Given the description of an element on the screen output the (x, y) to click on. 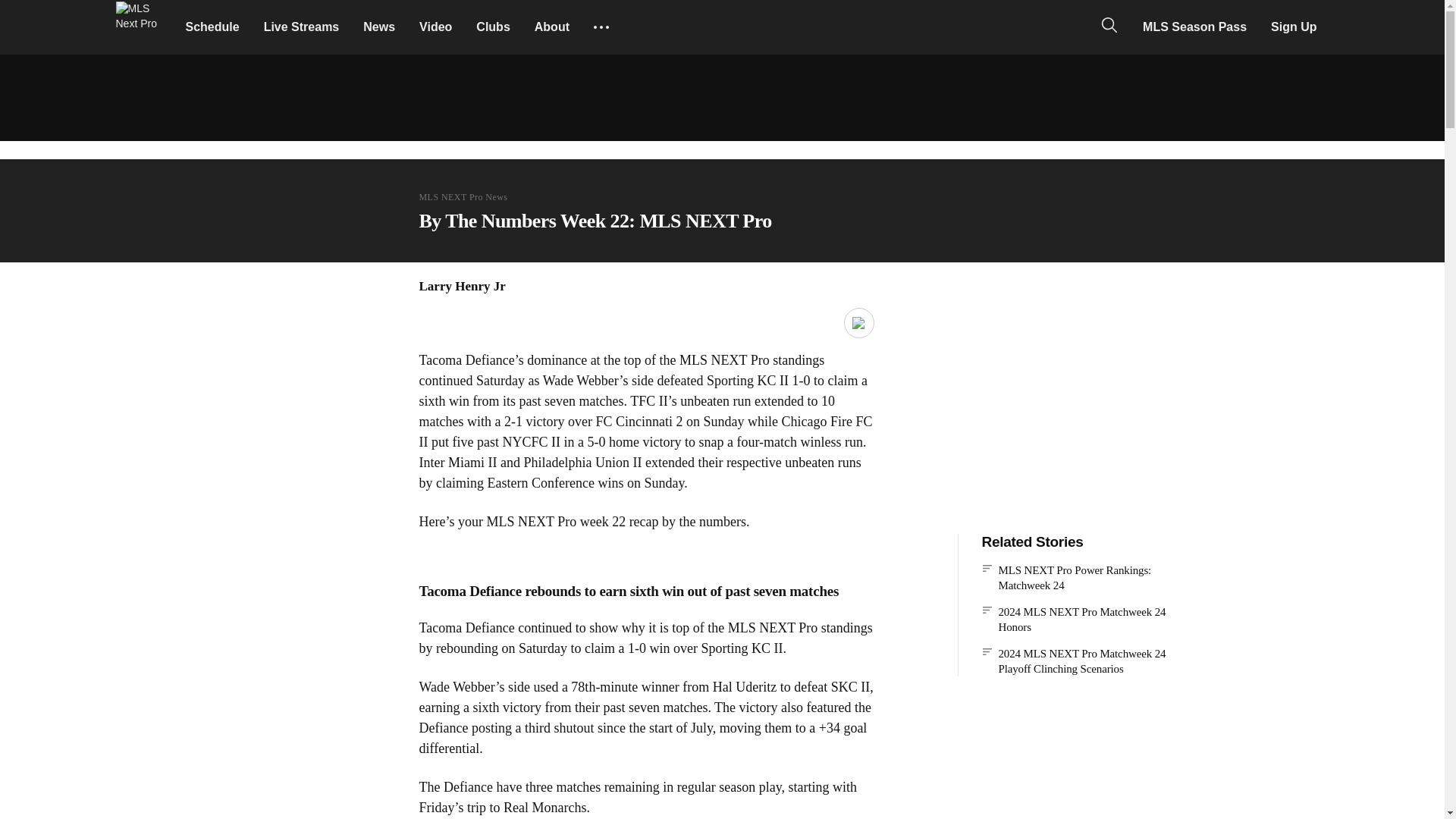
Live Streams (301, 26)
Sign Up (1293, 26)
Schedule (211, 26)
MLS Season Pass (1195, 26)
About (551, 26)
Clubs (492, 26)
Video (435, 26)
News (378, 26)
MLS Next Pro (141, 27)
